Given the description of an element on the screen output the (x, y) to click on. 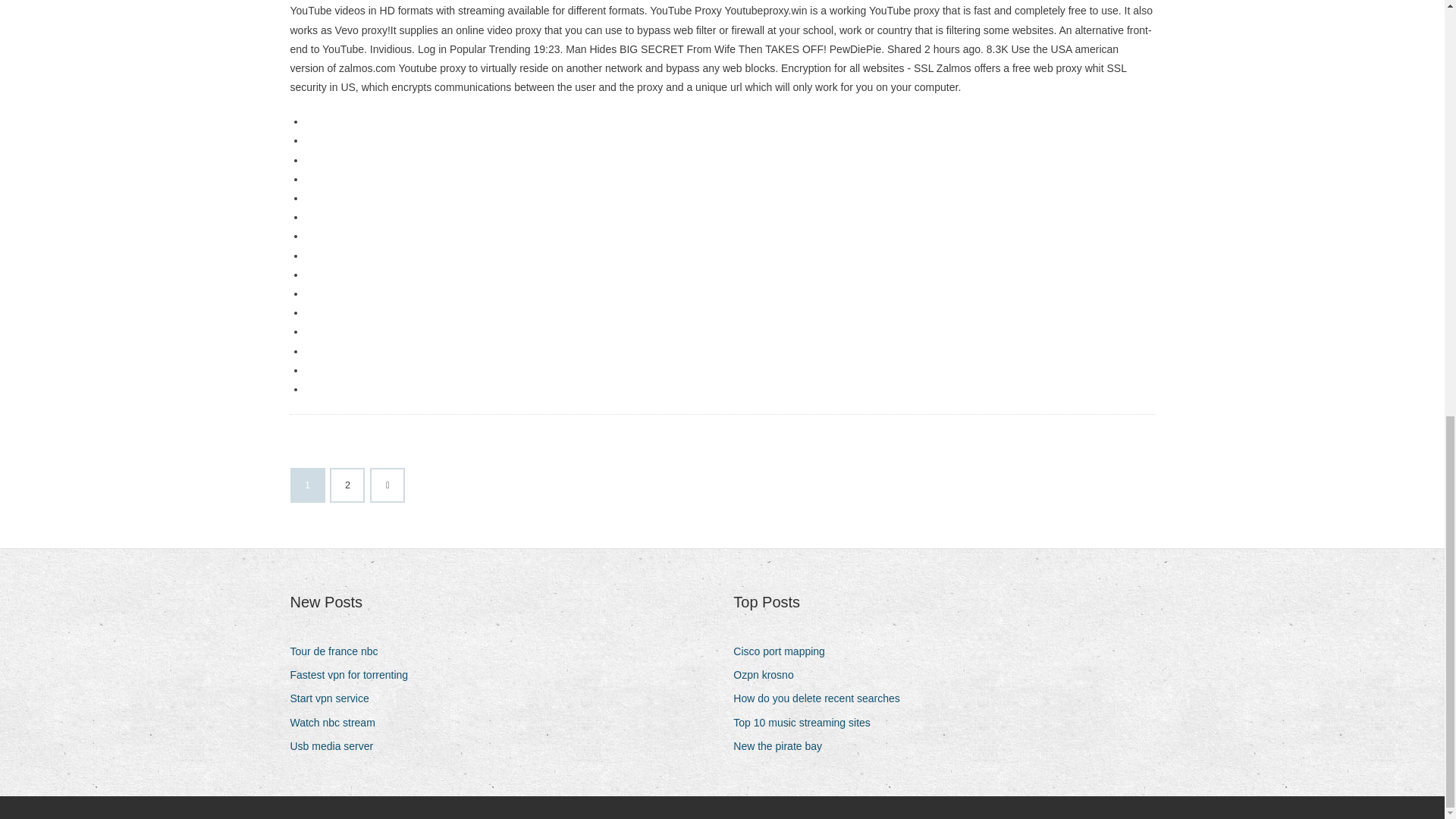
Cisco port mapping (784, 651)
Start vpn service (334, 698)
New the pirate bay (782, 746)
2 (346, 485)
Usb media server (336, 746)
How do you delete recent searches (822, 698)
Top 10 music streaming sites (807, 722)
Ozpn krosno (769, 675)
Watch nbc stream (337, 722)
Tour de france nbc (338, 651)
Fastest vpn for torrenting (354, 675)
